Given the description of an element on the screen output the (x, y) to click on. 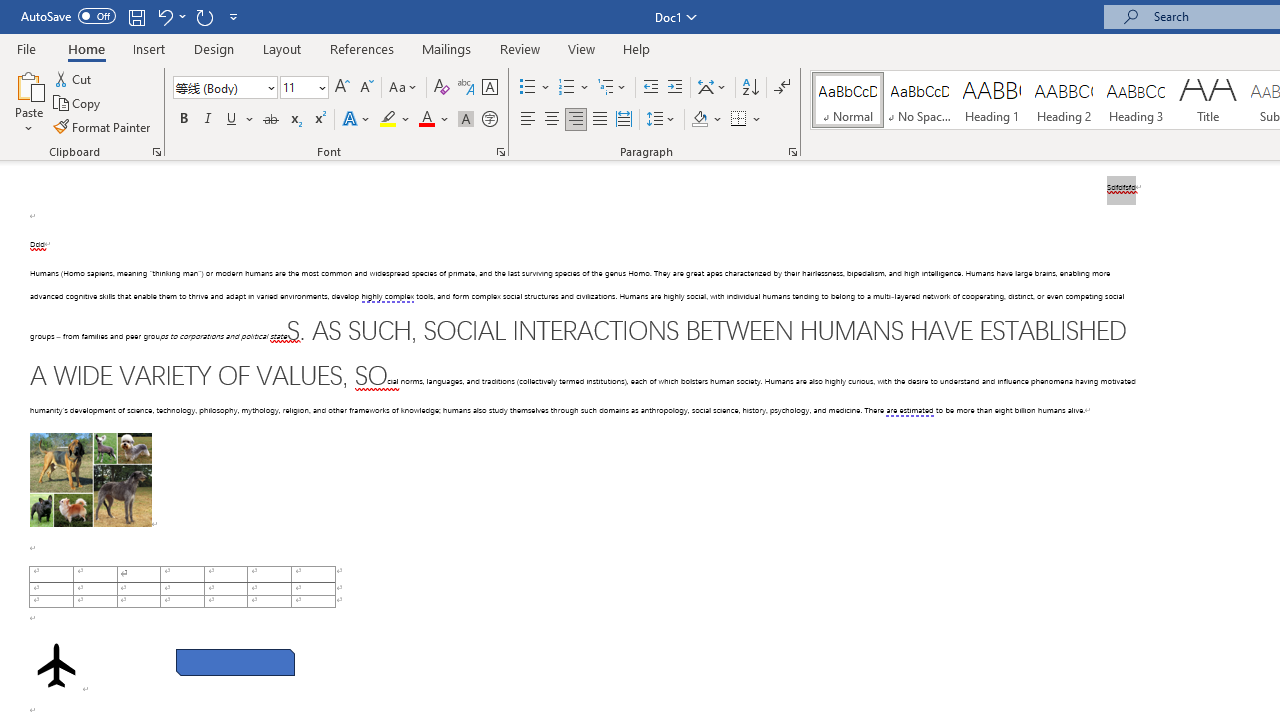
Heading 3 (1135, 100)
Repeat Paragraph Alignment (204, 15)
